Given the description of an element on the screen output the (x, y) to click on. 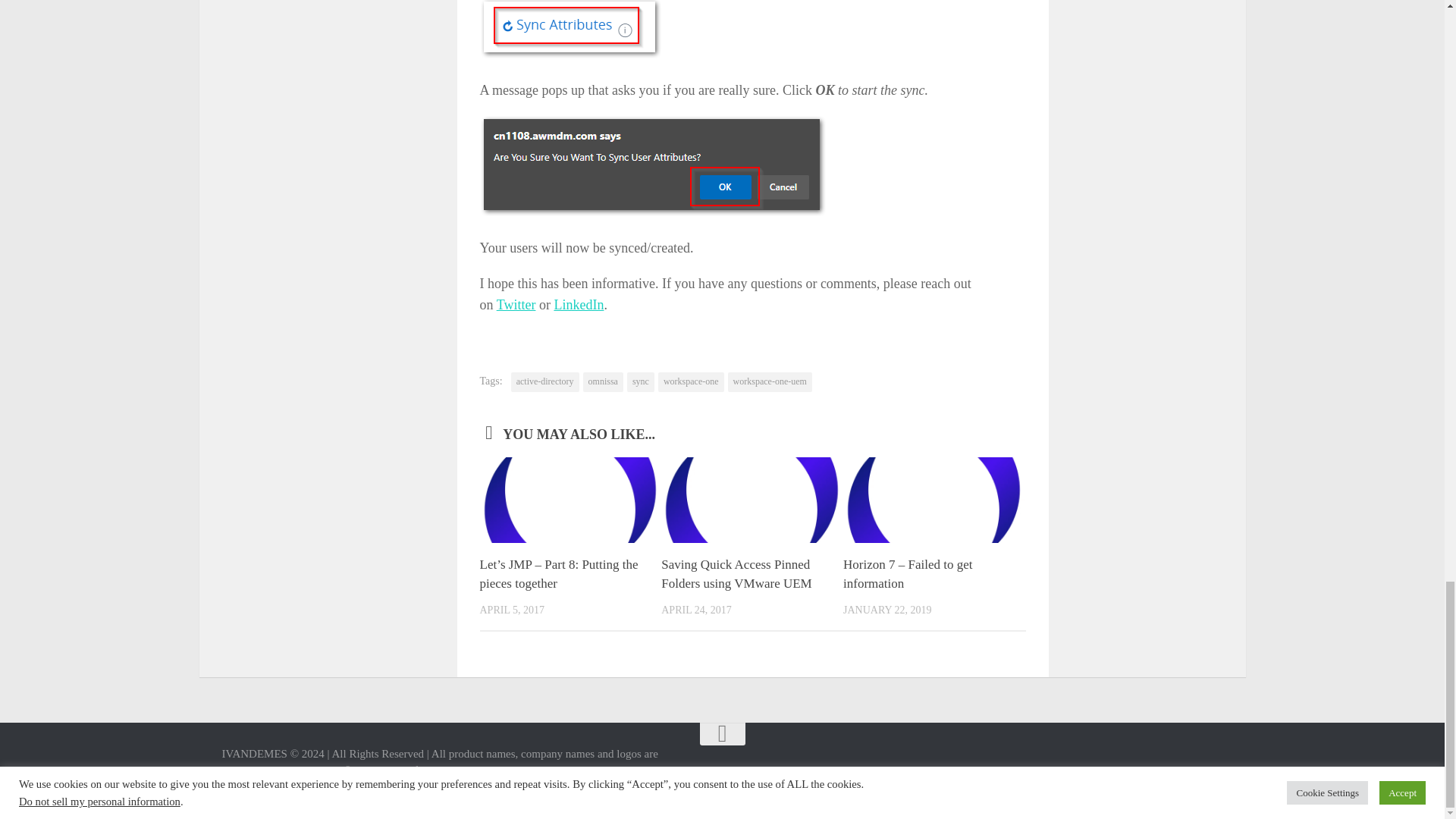
Twitter (515, 304)
active-directory (545, 382)
Saving Quick Access Pinned Folders using VMware UEM (735, 574)
omnissa (603, 382)
workspace-one (690, 382)
LinkedIn (578, 304)
workspace-one-uem (770, 382)
sync (640, 382)
